Given the description of an element on the screen output the (x, y) to click on. 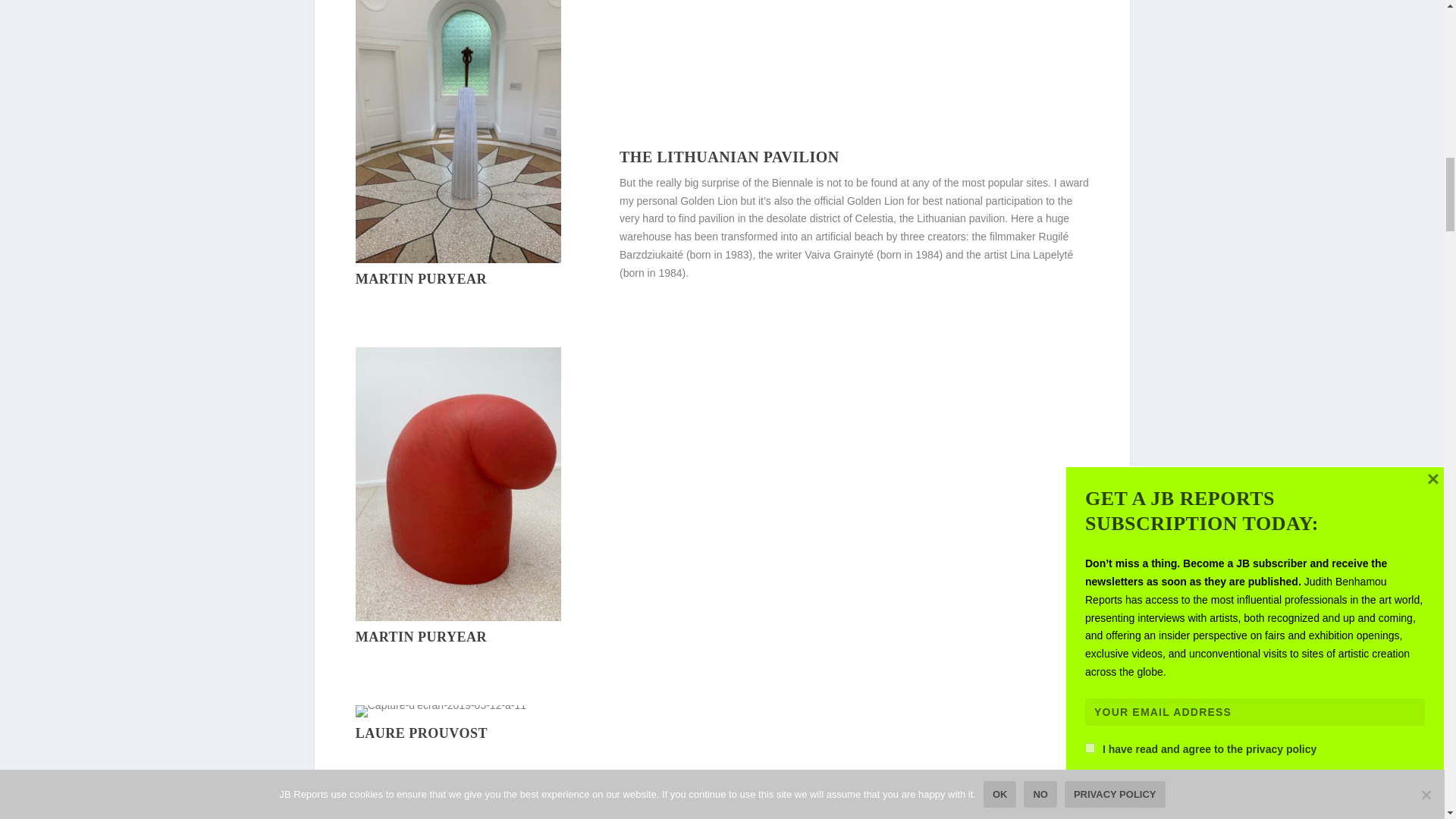
Martin Puryear (457, 259)
Martin Puryear (457, 616)
Laure Prouvost (440, 705)
